Given the description of an element on the screen output the (x, y) to click on. 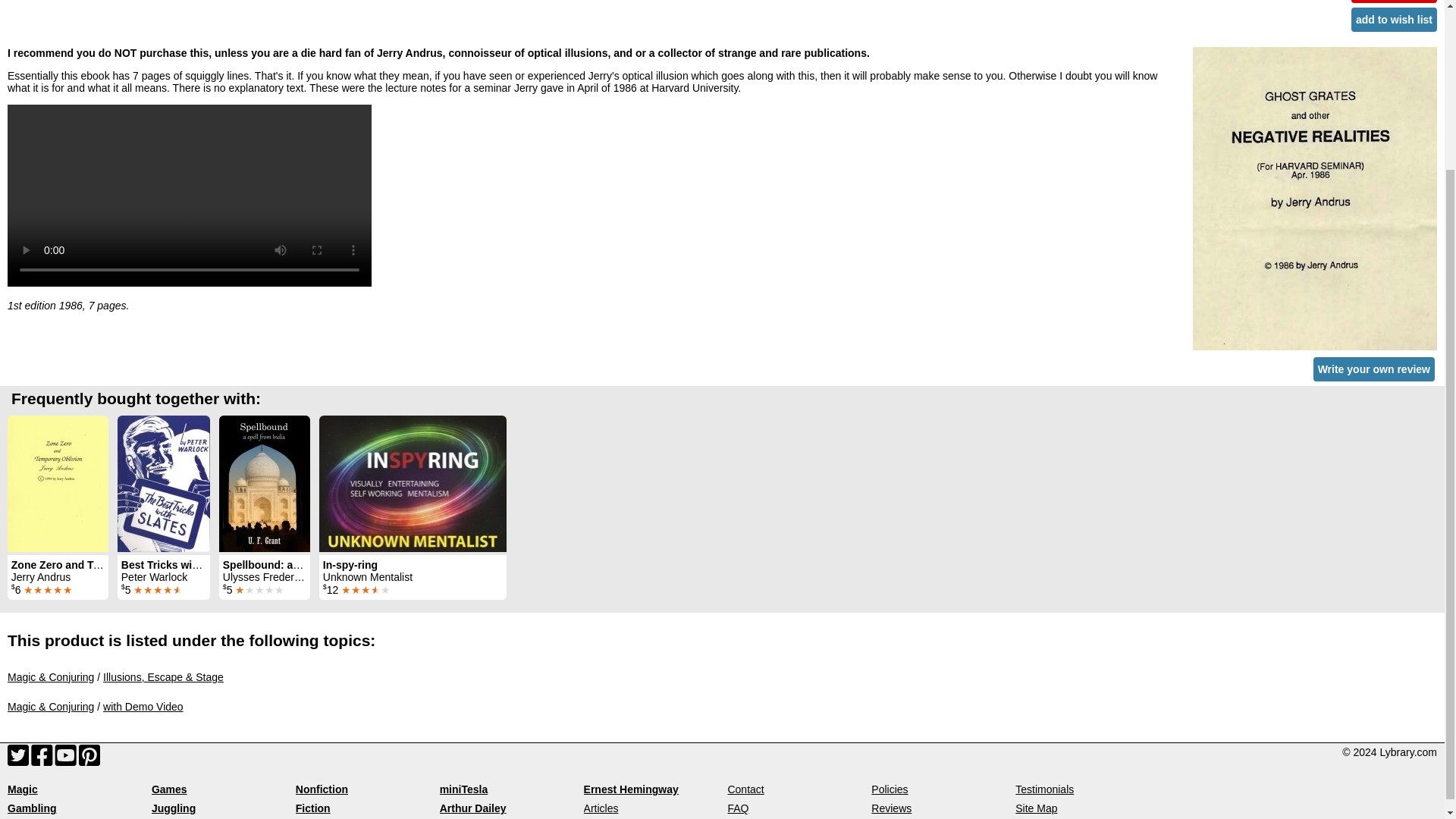
Policies (888, 788)
Gambling (31, 808)
add to cart (1394, 1)
Reviews (890, 808)
Juggling (173, 808)
add to wish list (1394, 19)
Nonfiction (321, 788)
Contact (744, 788)
Arthur Dailey (472, 808)
Ernest Hemingway (630, 788)
FAQ (737, 808)
Magic (22, 788)
miniTesla (463, 788)
Testimonials (1044, 788)
Articles (600, 808)
